Given the description of an element on the screen output the (x, y) to click on. 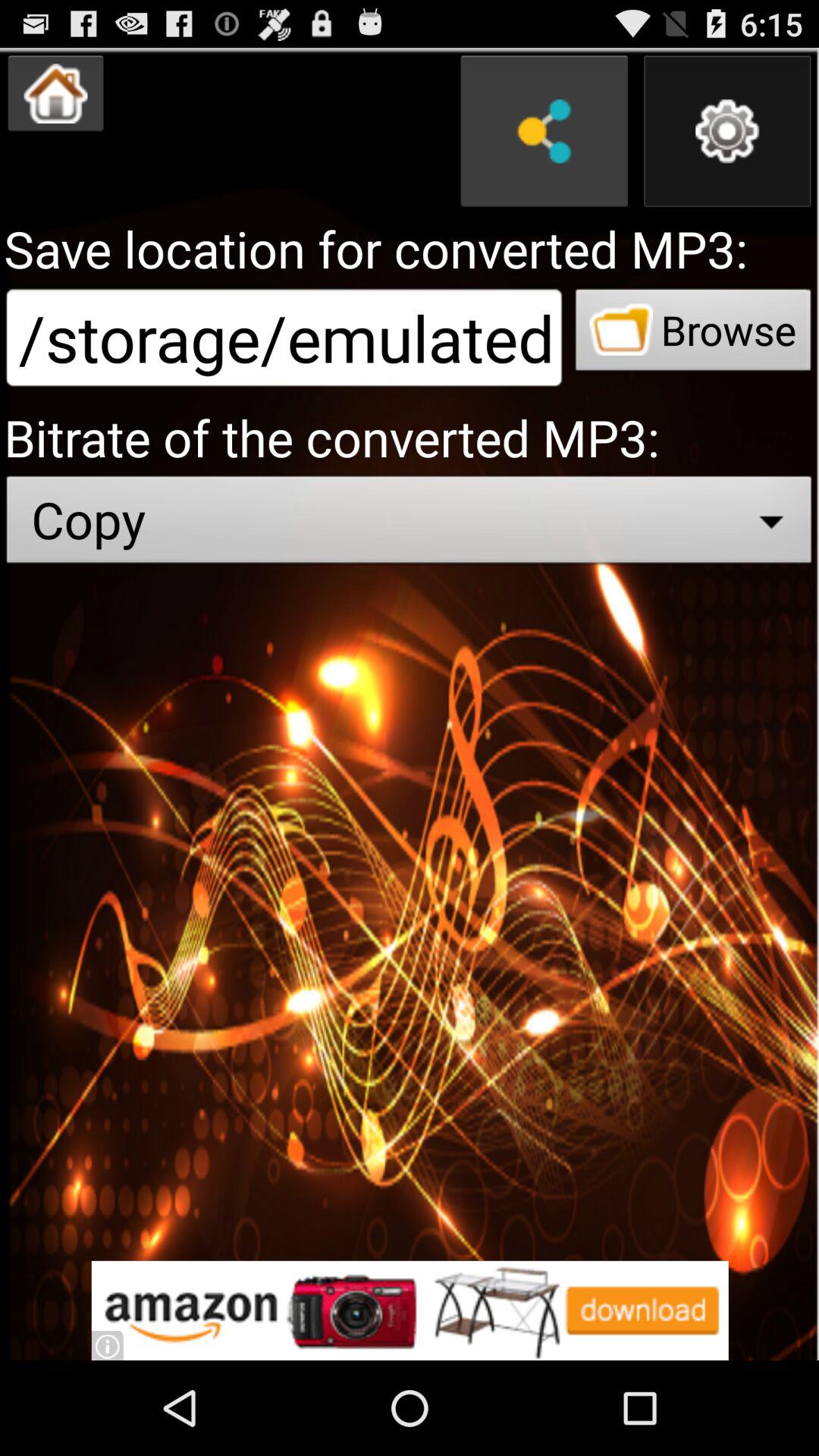
select the setting option (727, 130)
